Given the description of an element on the screen output the (x, y) to click on. 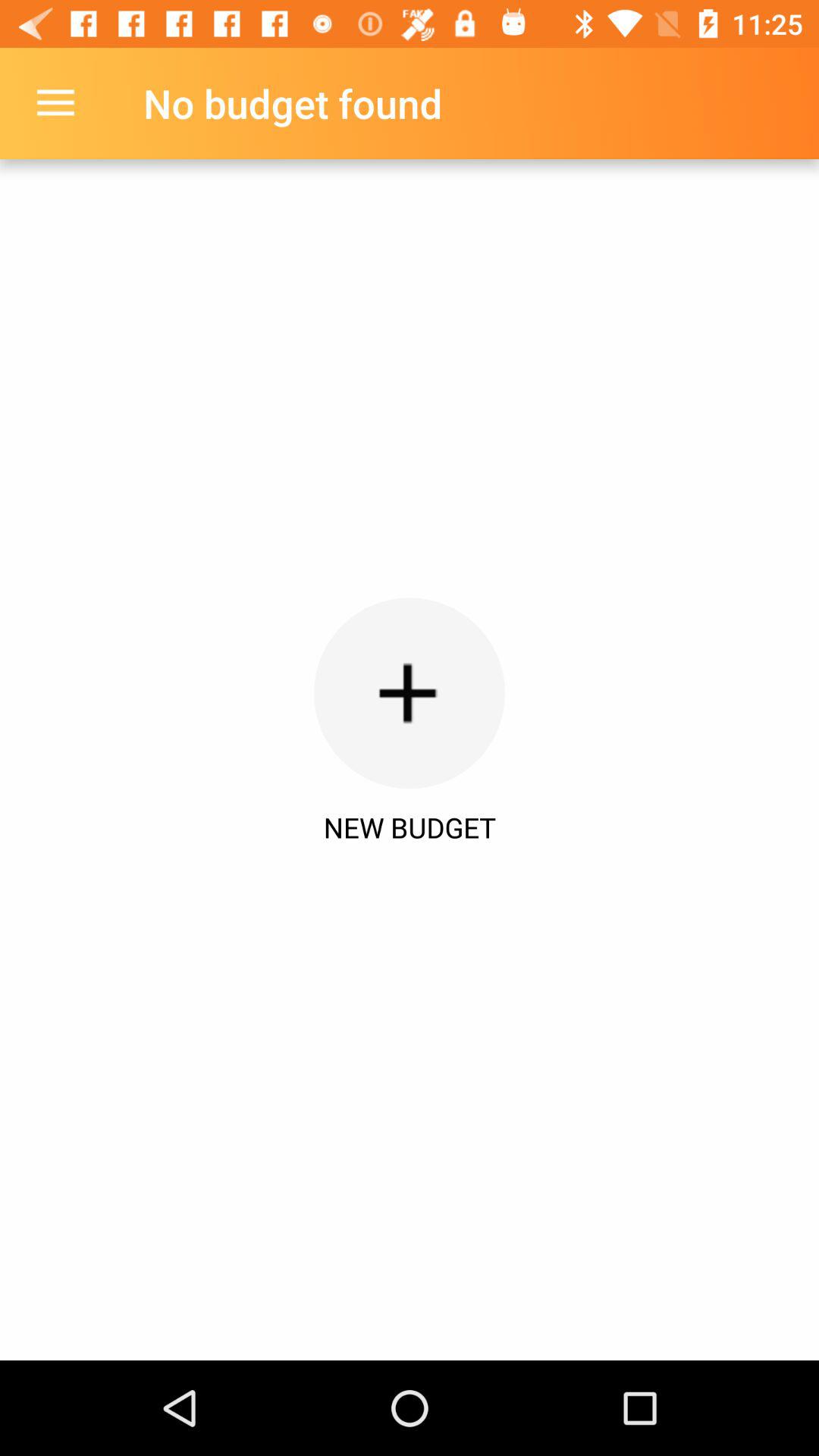
flip to the new budget icon (409, 827)
